Given the description of an element on the screen output the (x, y) to click on. 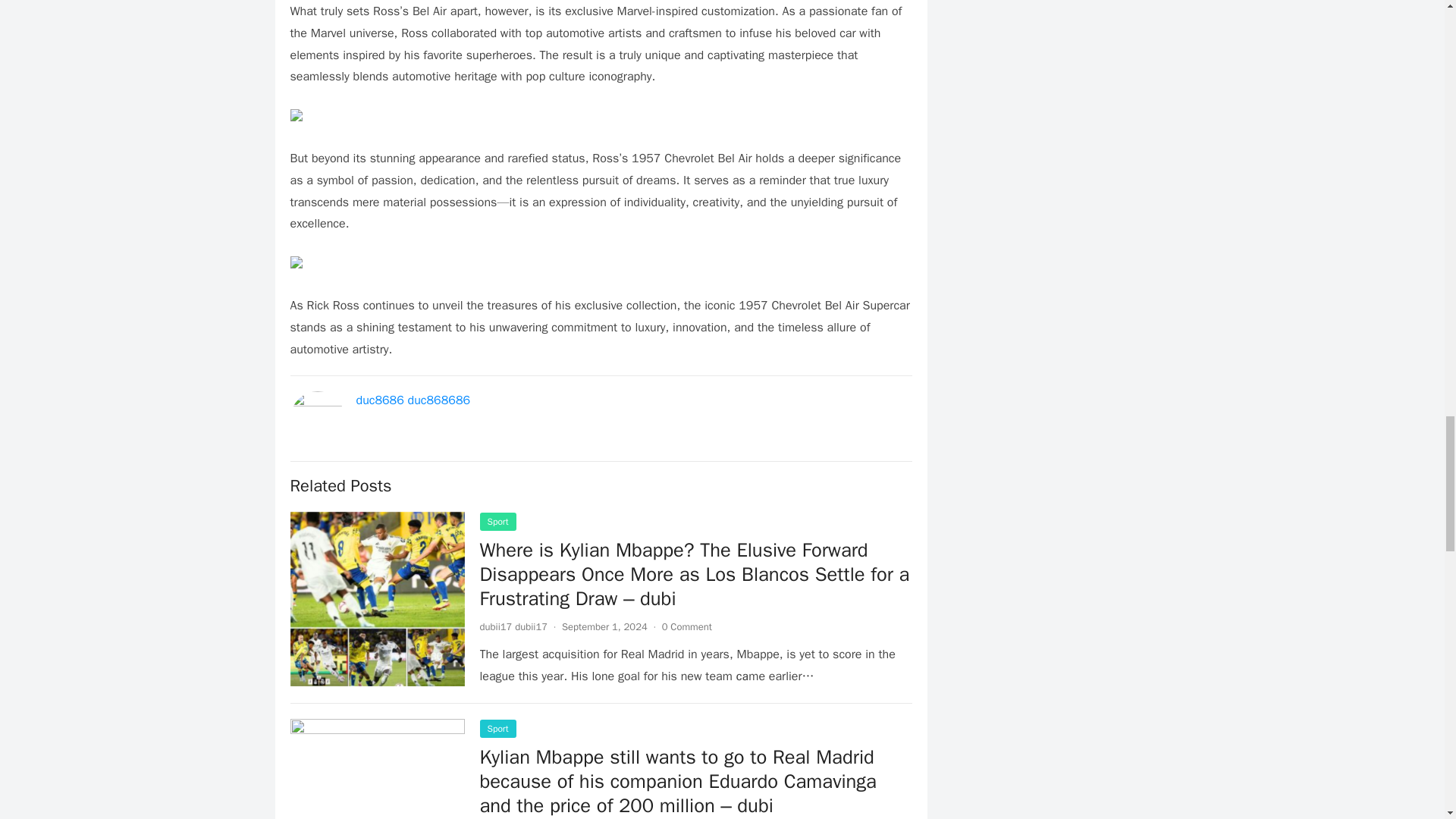
Sport (497, 521)
0 Comment (686, 626)
Sport (497, 728)
dubii17 dubii17 (513, 626)
Posts by dubii17 dubii17 (513, 626)
duc8686 duc868686 (413, 400)
